Given the description of an element on the screen output the (x, y) to click on. 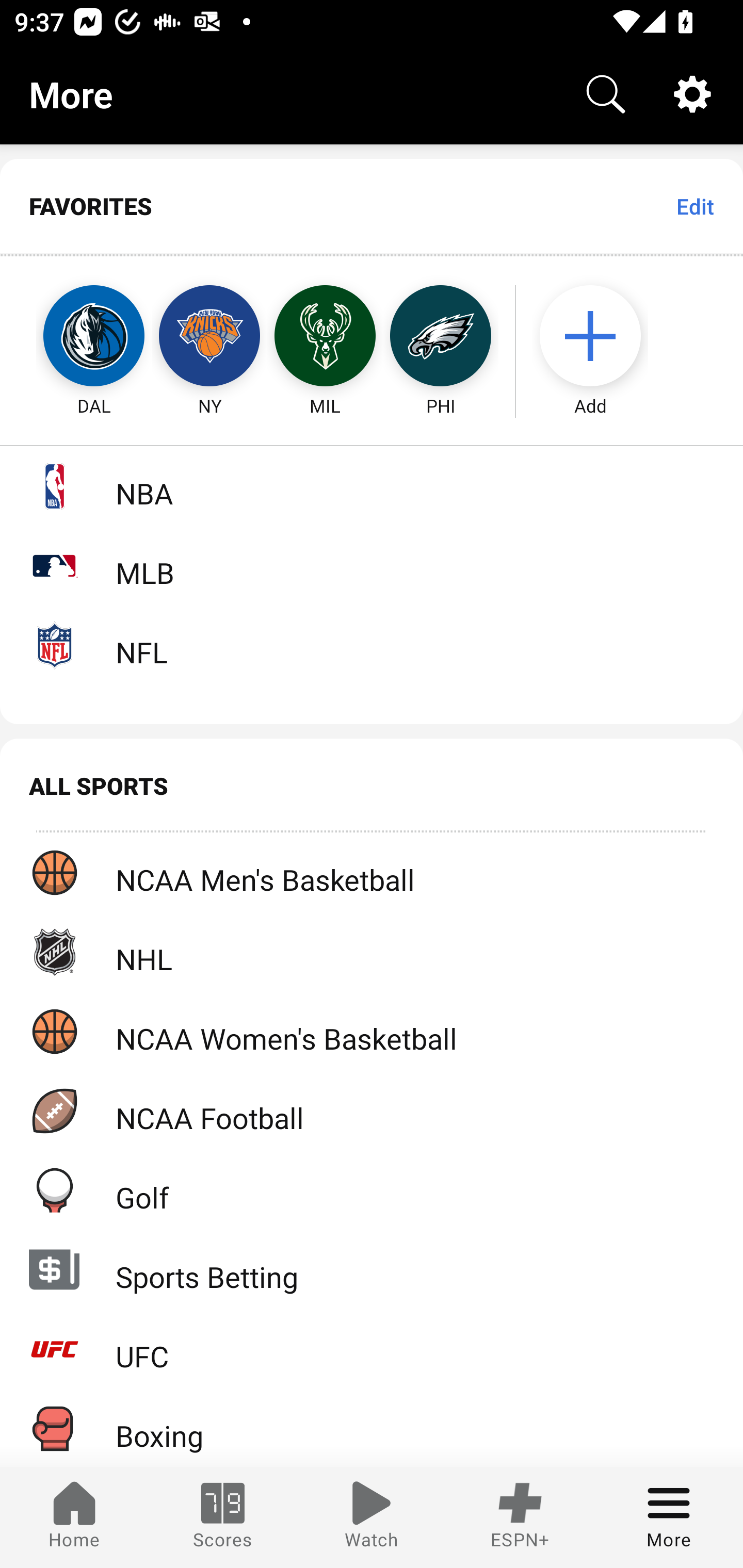
Search (605, 93)
Settings (692, 93)
Edit (695, 205)
DAL Dallas Mavericks (75, 336)
NY New York Knicks (209, 336)
MIL Milwaukee Bucks (324, 336)
PHI Philadelphia Eagles (440, 336)
 Add (599, 336)
NBA (371, 485)
MLB (371, 565)
NFL (371, 645)
NCAA Men's Basketball (371, 872)
NHL (371, 951)
NCAA Women's Basketball (371, 1030)
NCAA Football (371, 1110)
Golf (371, 1189)
Sports Betting (371, 1269)
UFC (371, 1349)
Boxing (371, 1428)
Home (74, 1517)
Scores (222, 1517)
Watch (371, 1517)
ESPN+ (519, 1517)
